Given the description of an element on the screen output the (x, y) to click on. 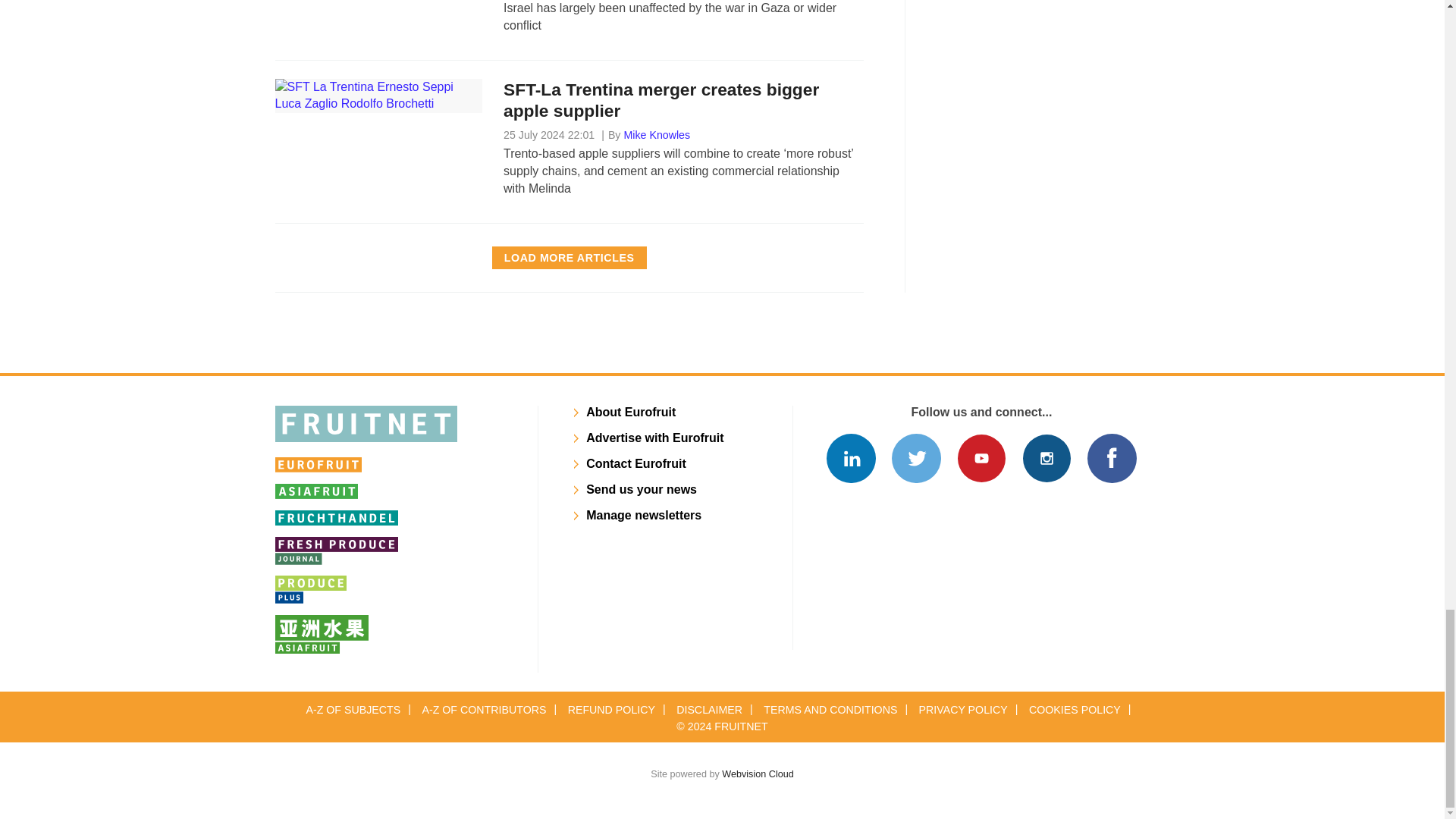
Connect with us on Youtube (981, 458)
Follow us on Linked In (851, 458)
Connect with us on Twitter (915, 458)
Follow us on Facebook (1112, 458)
Follow us on Instagram (1046, 458)
